Given the description of an element on the screen output the (x, y) to click on. 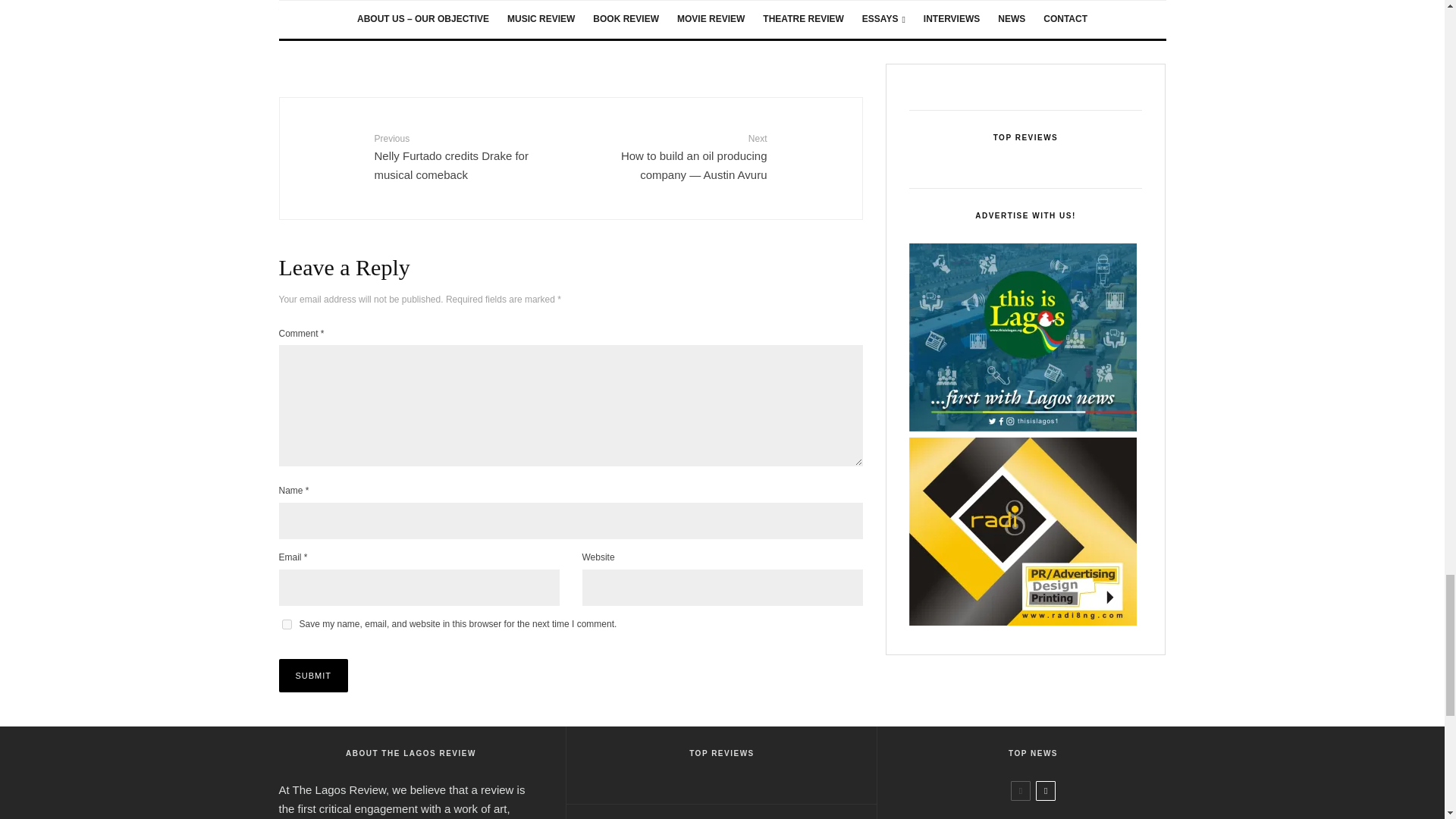
Submit (314, 675)
yes (287, 624)
